Given the description of an element on the screen output the (x, y) to click on. 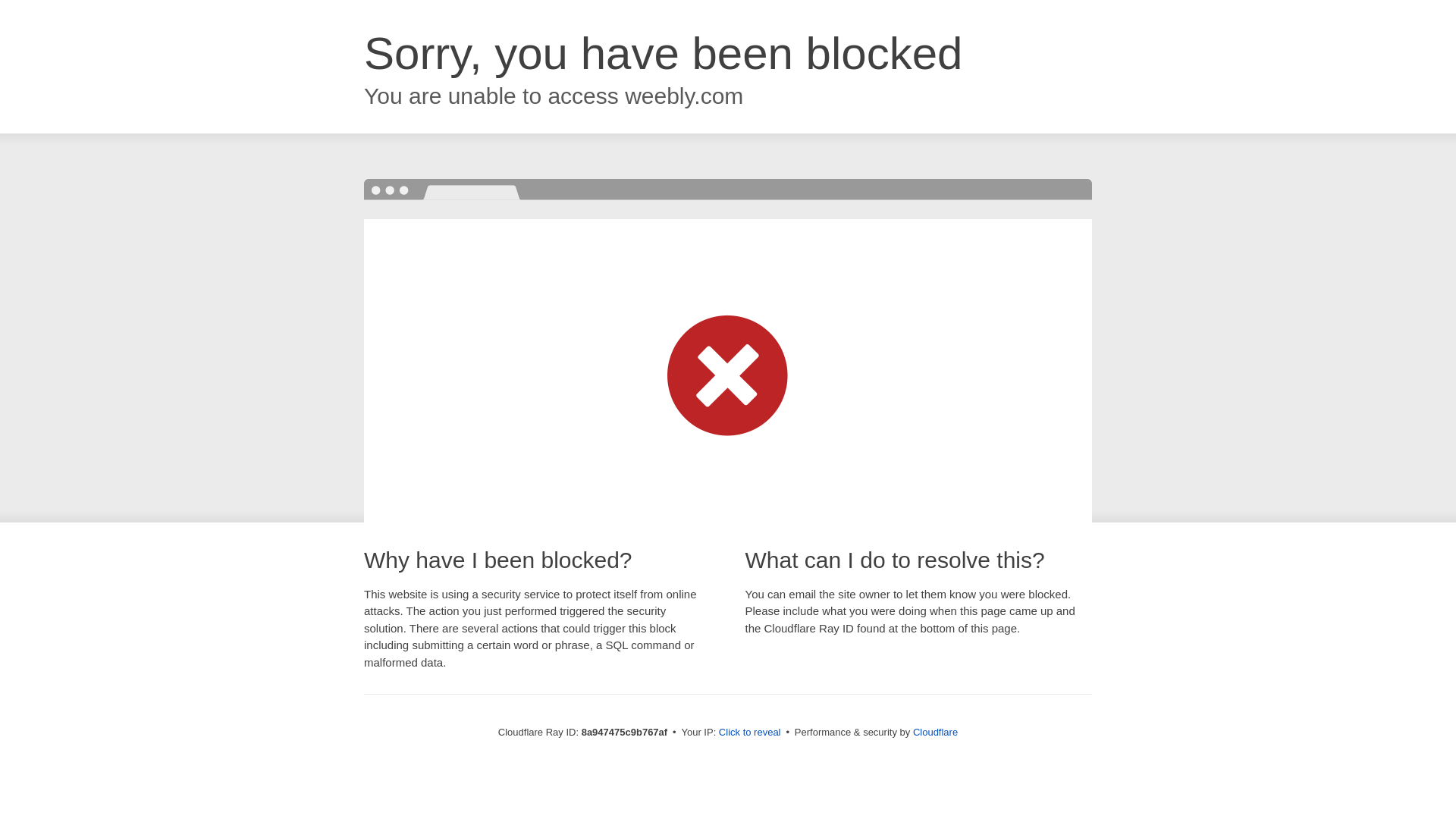
Click to reveal (749, 732)
Cloudflare (935, 731)
